Given the description of an element on the screen output the (x, y) to click on. 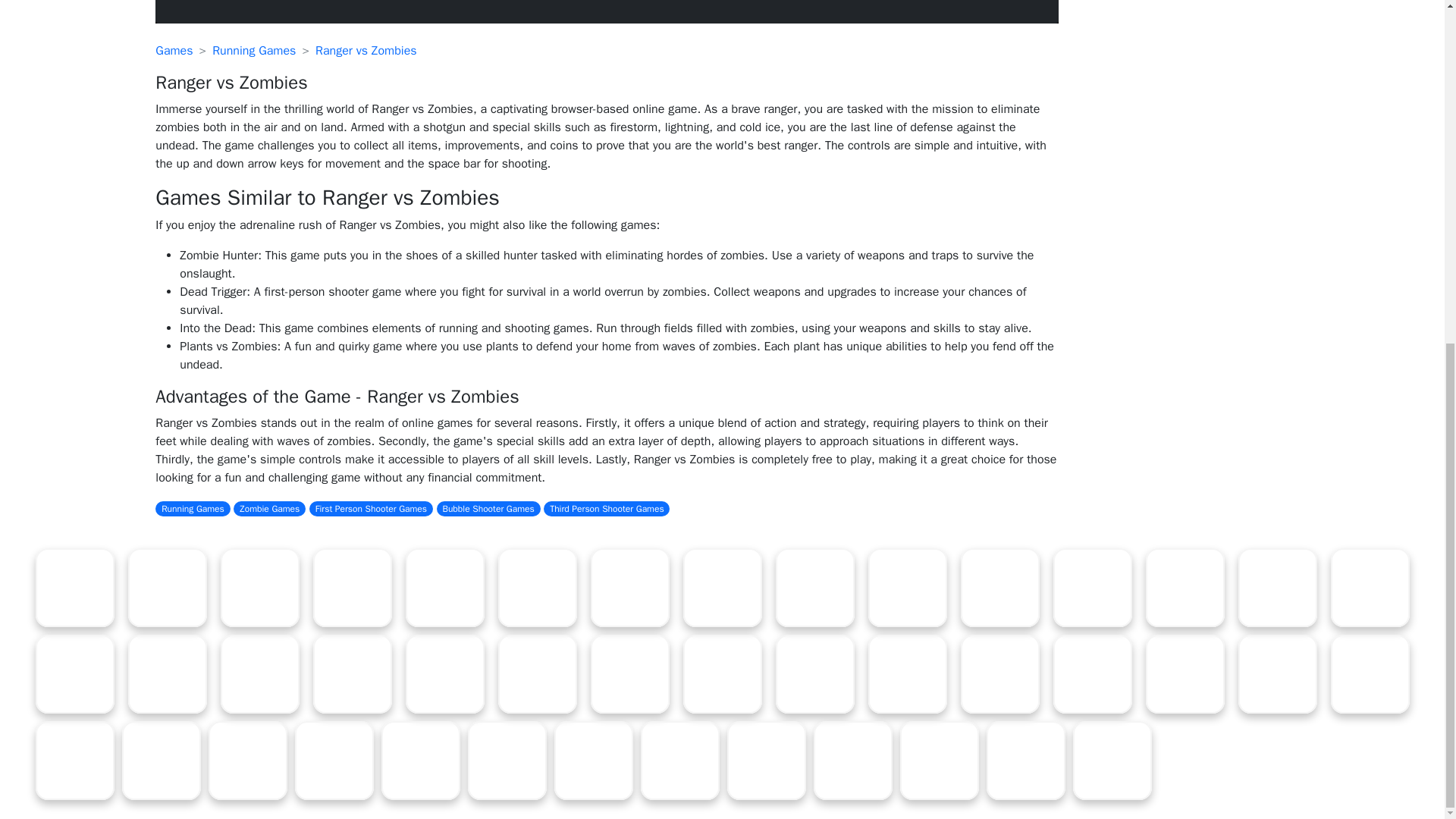
Run Royale Knockout Ultimate (258, 587)
First Person Shooter Games (370, 508)
Fast Stick Soldier (73, 587)
Basket Bird (813, 587)
Ranger vs Zombies (365, 50)
Tap Candy : Sweets Clicker (906, 587)
Back to School Princess Preppy Style (352, 587)
Running Games (192, 508)
Zombie Games (268, 508)
Roll Sky Ball 3D (167, 587)
Highway Drive 2D (999, 587)
Running Games (253, 50)
Cooking Frenzy (443, 587)
Barbie with Twins (721, 587)
Bubble Shooter Games (488, 508)
